Given the description of an element on the screen output the (x, y) to click on. 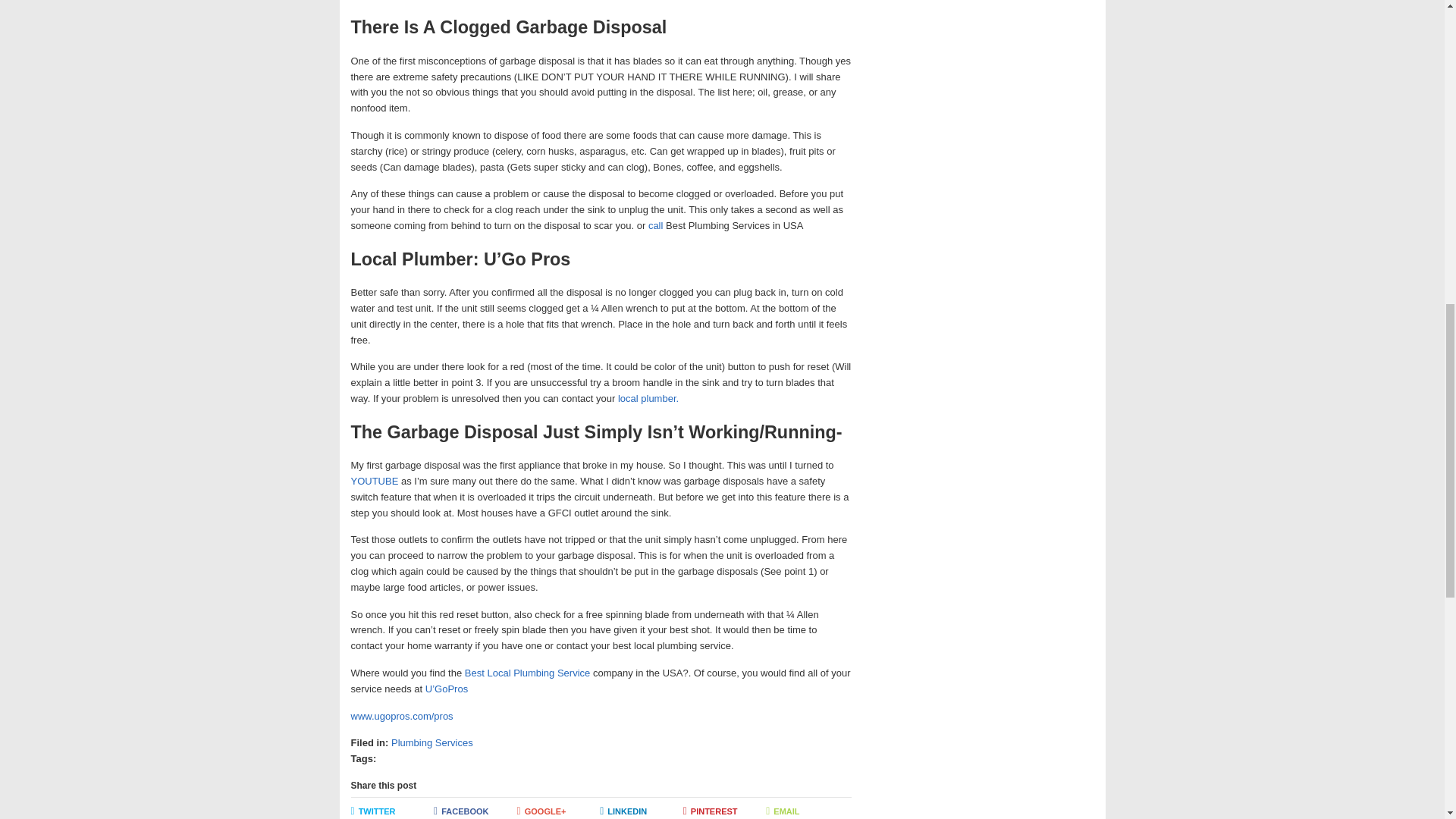
PINTEREST (724, 812)
plumber. (659, 398)
EMAIL (806, 812)
YOUTUBE (375, 480)
local (628, 398)
FACEBOOK (474, 812)
Plumbing Services (432, 742)
LINKEDIN (640, 812)
Best Local Plumbing Service (528, 672)
call (656, 225)
TWITTER (391, 812)
